Given the description of an element on the screen output the (x, y) to click on. 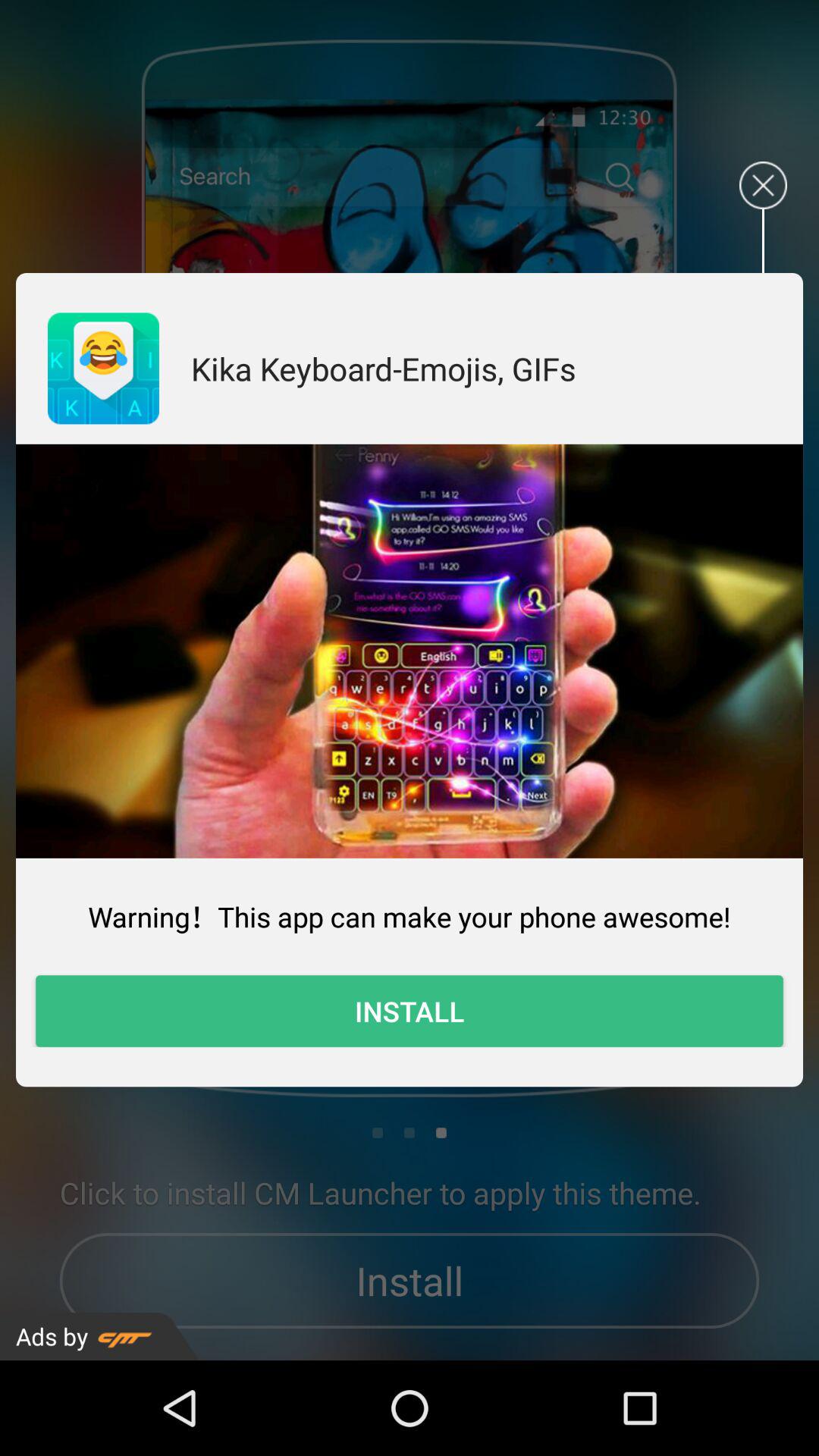
tap the item next to the kika keyboard emojis (103, 368)
